Given the description of an element on the screen output the (x, y) to click on. 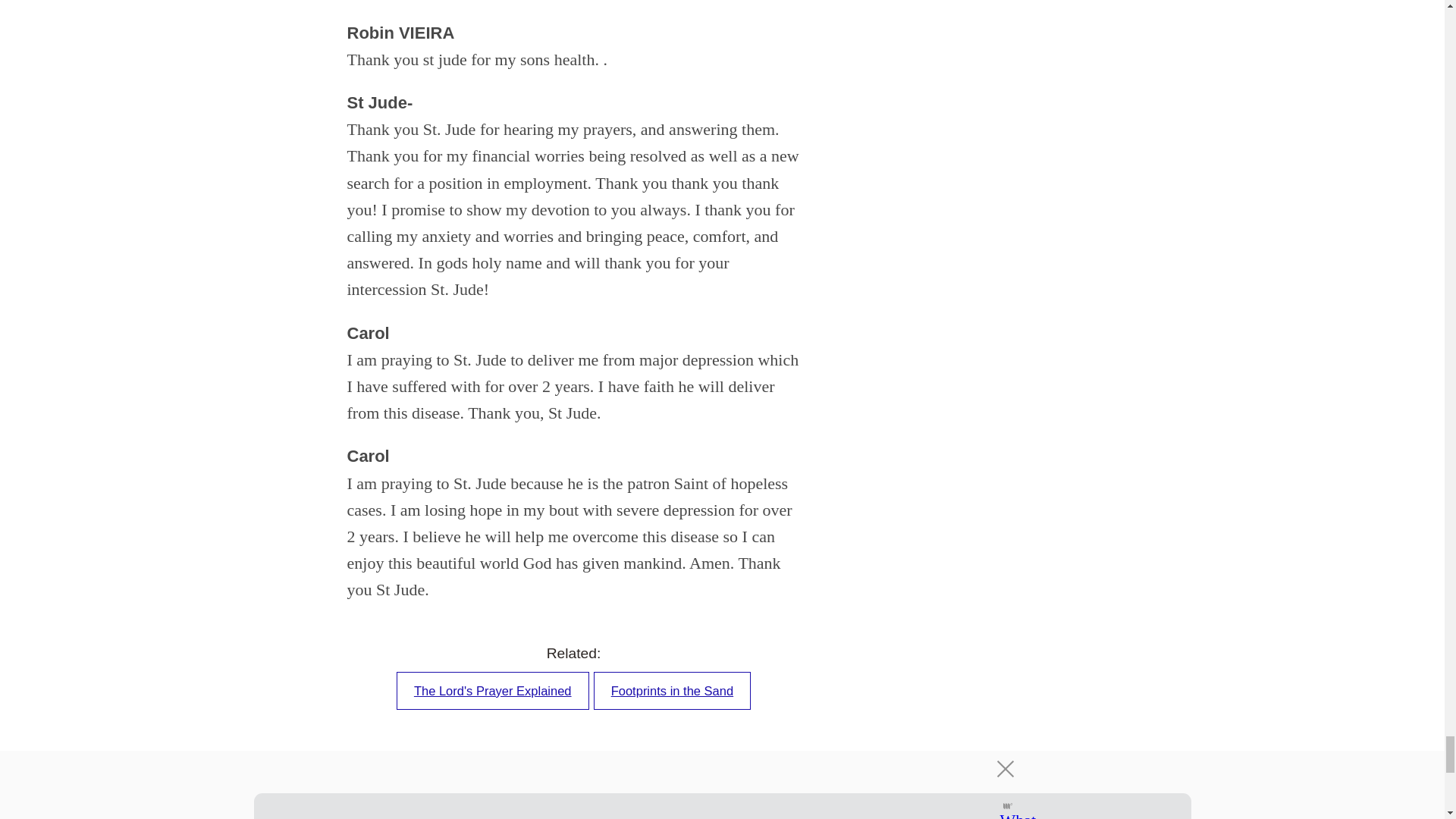
Footprints in the Sand (672, 690)
The Lord's Prayer Explained (492, 690)
